Given the description of an element on the screen output the (x, y) to click on. 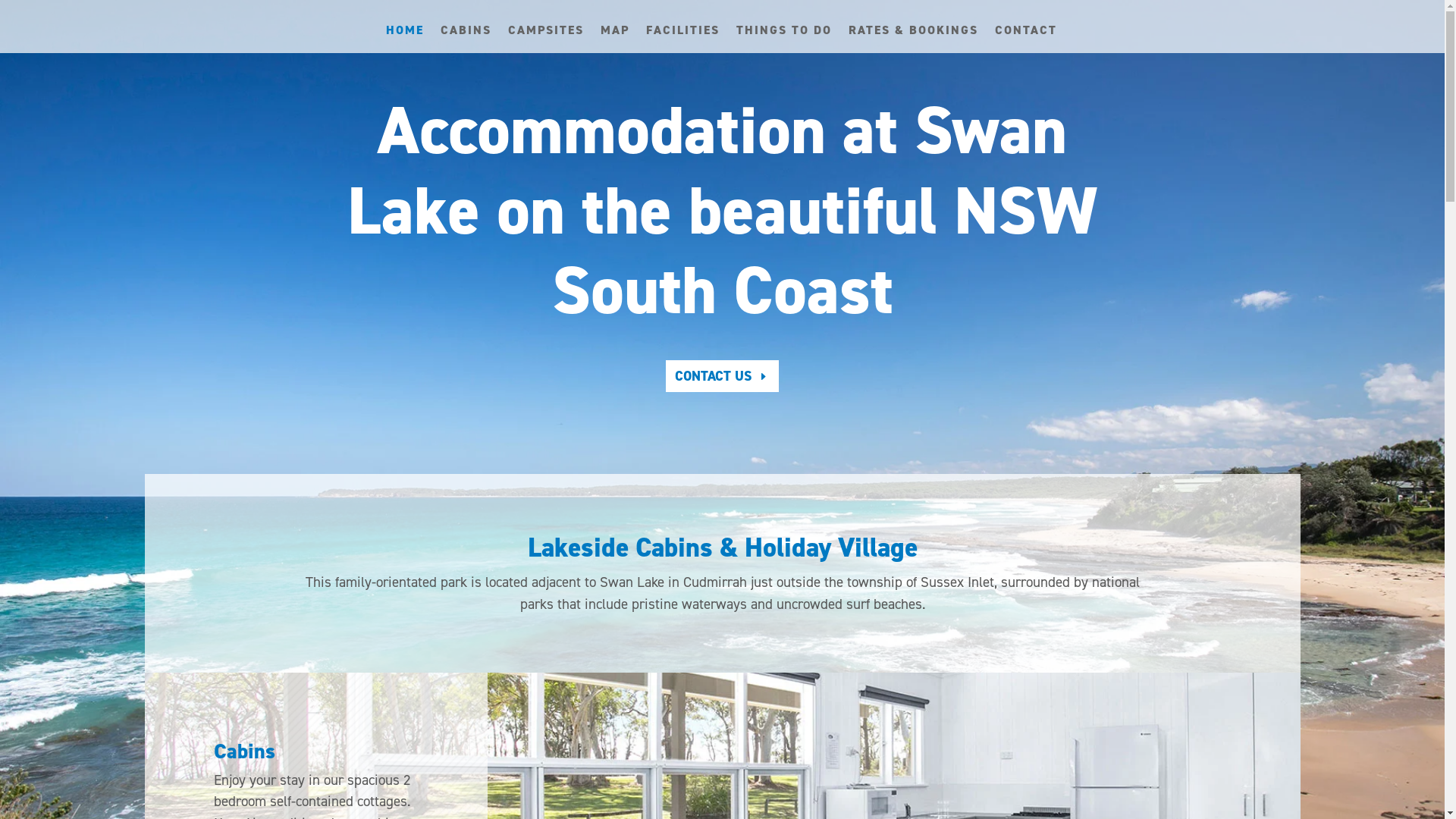
RATES & BOOKINGS Element type: text (913, 39)
HOME Element type: text (404, 39)
CONTACT US Element type: text (722, 375)
CAMPSITES Element type: text (545, 39)
CABINS Element type: text (465, 39)
MAP Element type: text (614, 39)
CONTACT Element type: text (1025, 39)
THINGS TO DO Element type: text (783, 39)
FACILITIES Element type: text (682, 39)
